Given the description of an element on the screen output the (x, y) to click on. 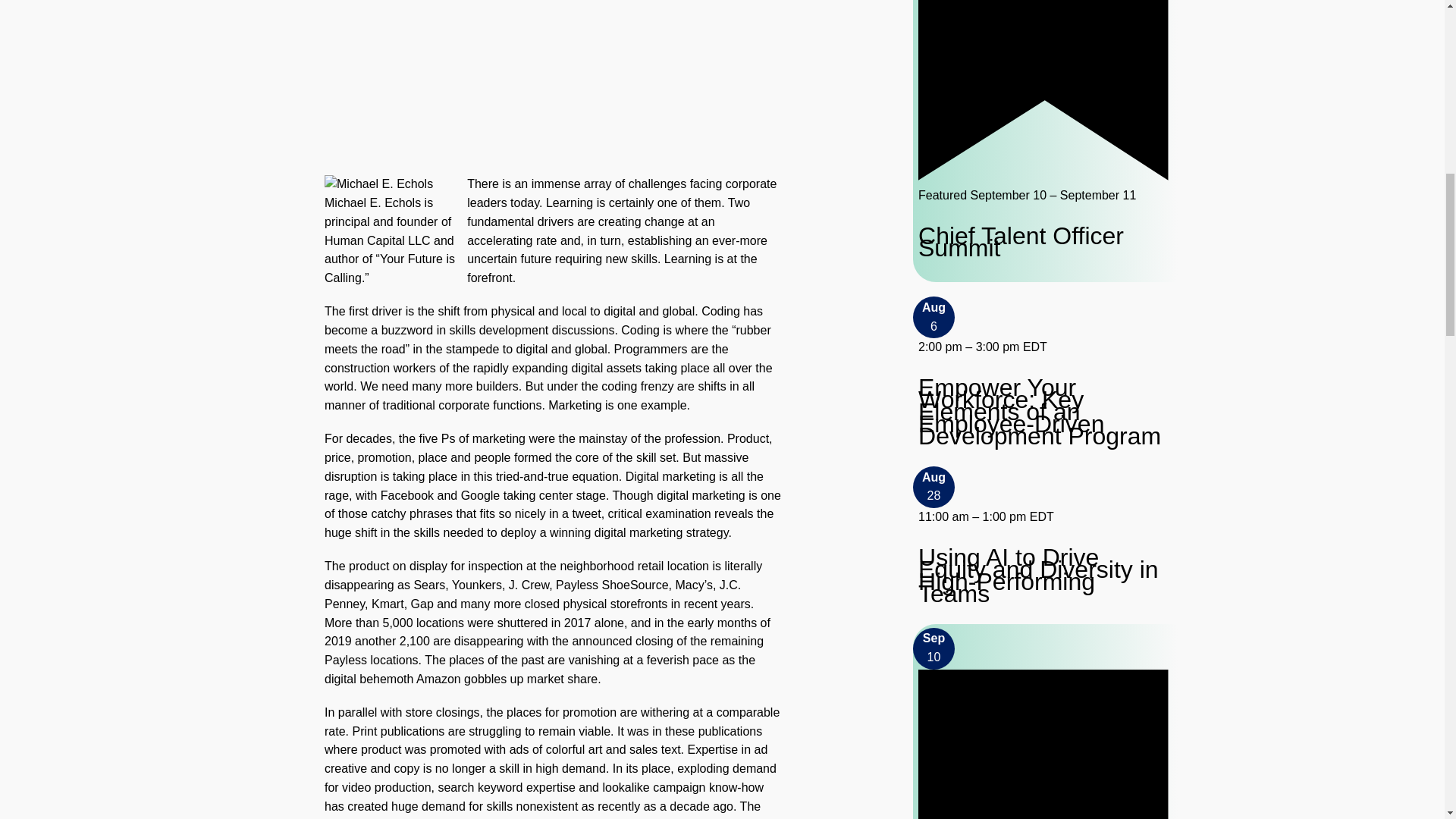
Featured (1042, 175)
Chief Talent Officer Summit (1042, 241)
Featured (1042, 744)
Featured (1042, 90)
